Given the description of an element on the screen output the (x, y) to click on. 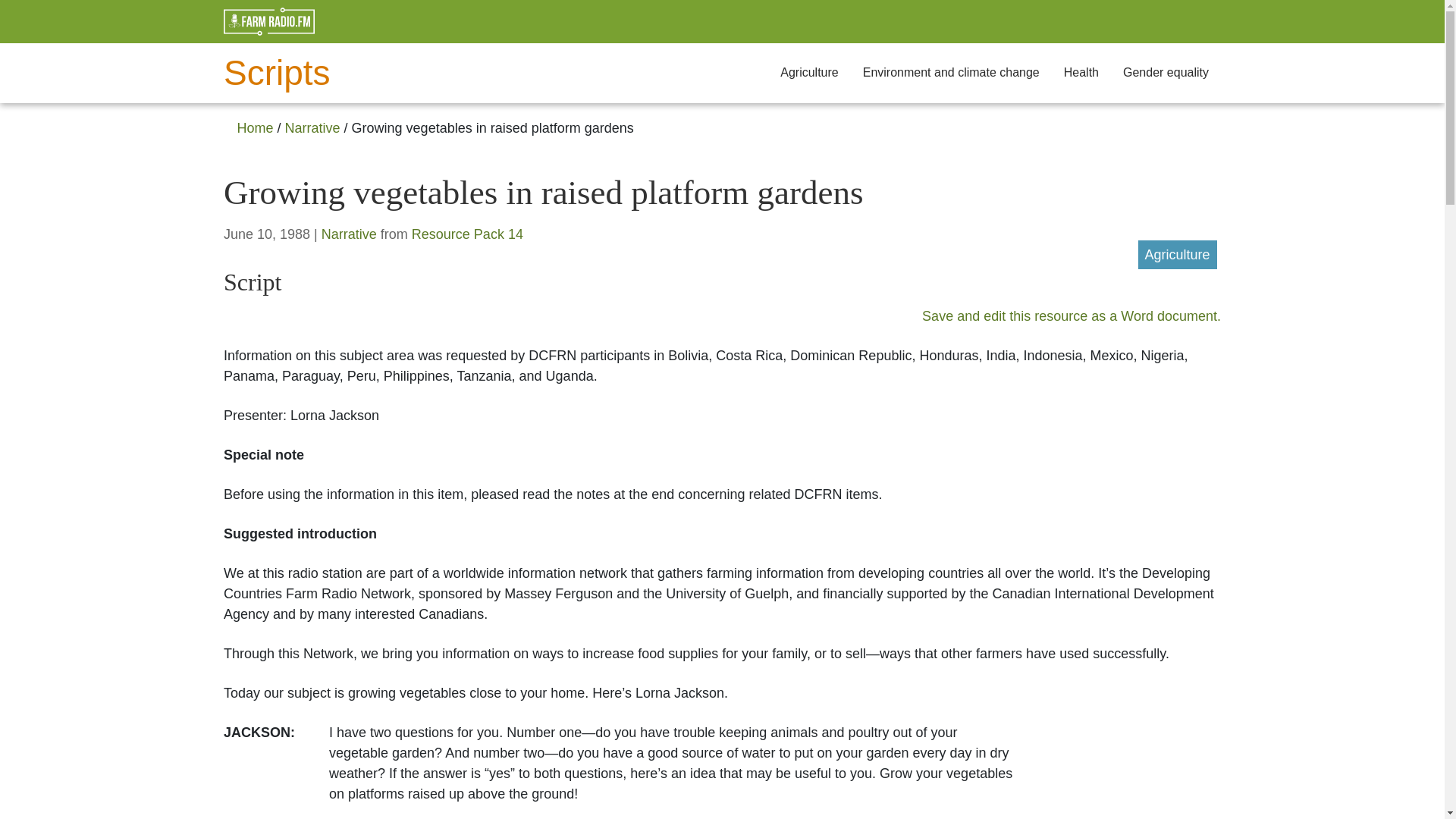
Health (1080, 72)
Home (254, 127)
Agriculture (1176, 254)
Resource Pack 14 (467, 233)
Environment and climate change (950, 72)
Narrative (349, 233)
Agriculture (809, 72)
Save and edit this resource as a Word document. (1071, 315)
Gender equality (1165, 72)
Scripts (384, 72)
